Given the description of an element on the screen output the (x, y) to click on. 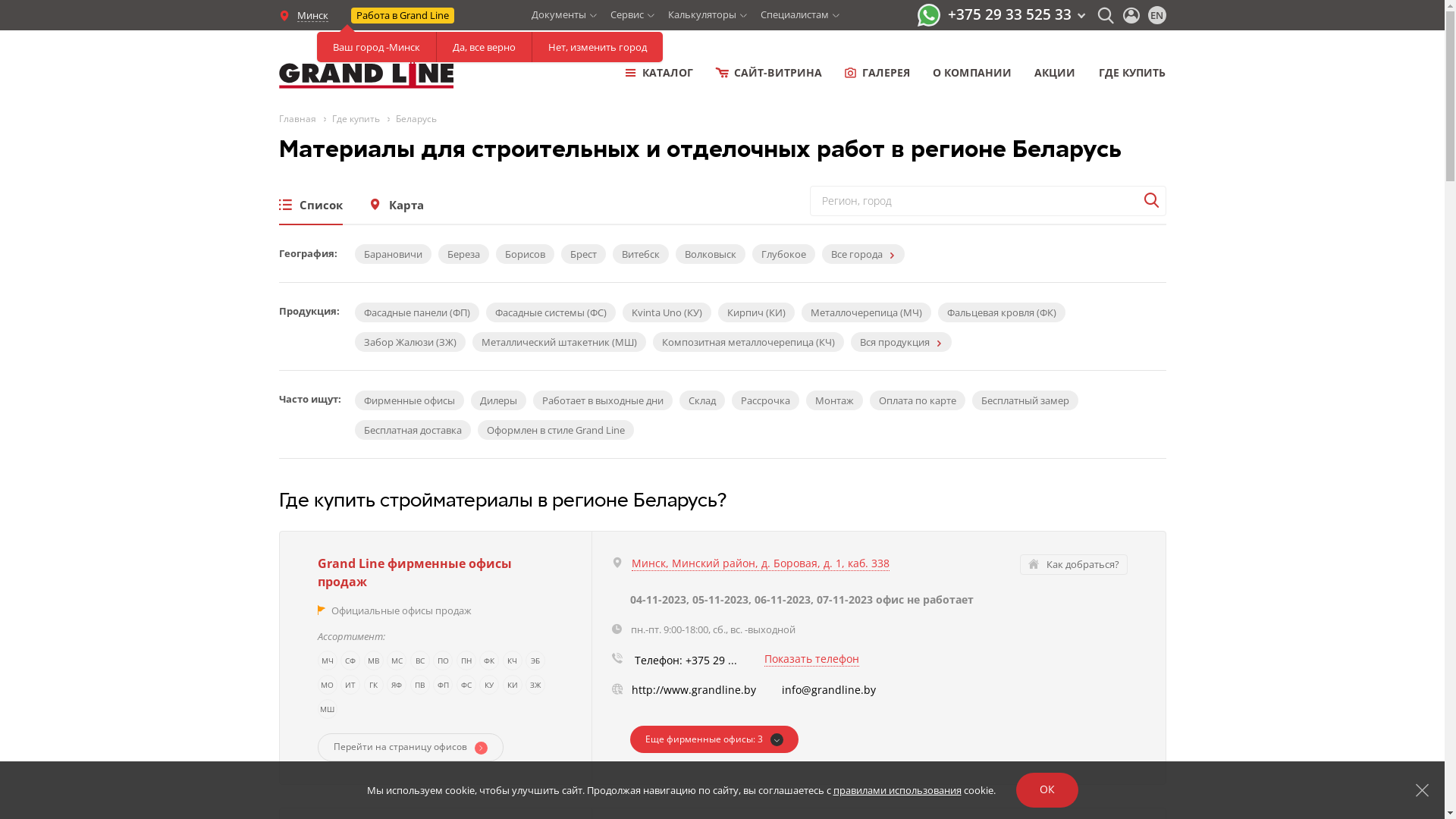
EN Element type: text (1157, 15)
3 Element type: text (713, 739)
info@grandline.by Element type: text (828, 689)
+375 29 33 525 33 Element type: text (1016, 14)
http://www.grandline.by Element type: text (692, 689)
